Given the description of an element on the screen output the (x, y) to click on. 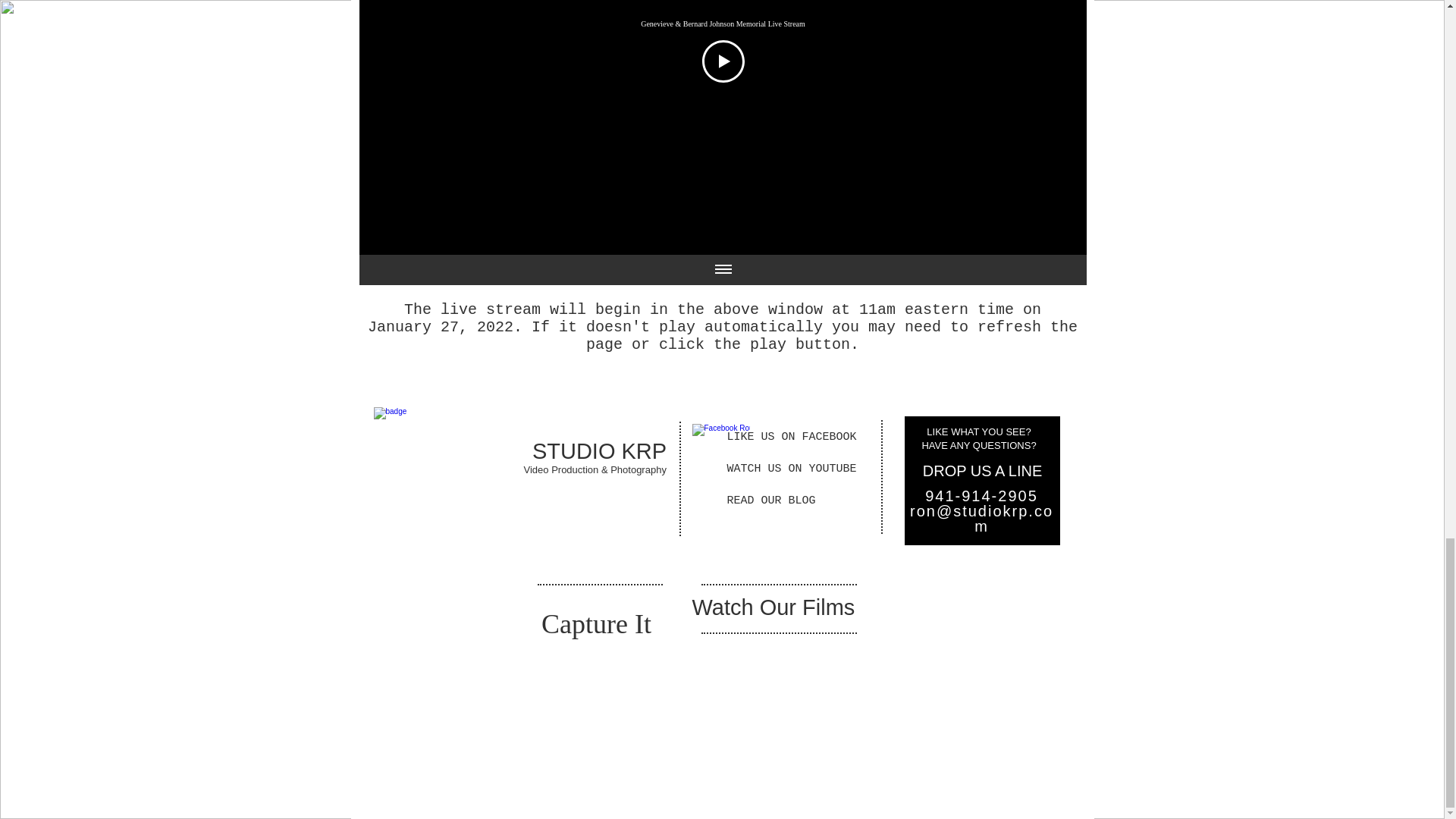
Watch Our Films (772, 607)
Sarasota wedding videography (442, 479)
DROP US A LINE (982, 470)
